Given the description of an element on the screen output the (x, y) to click on. 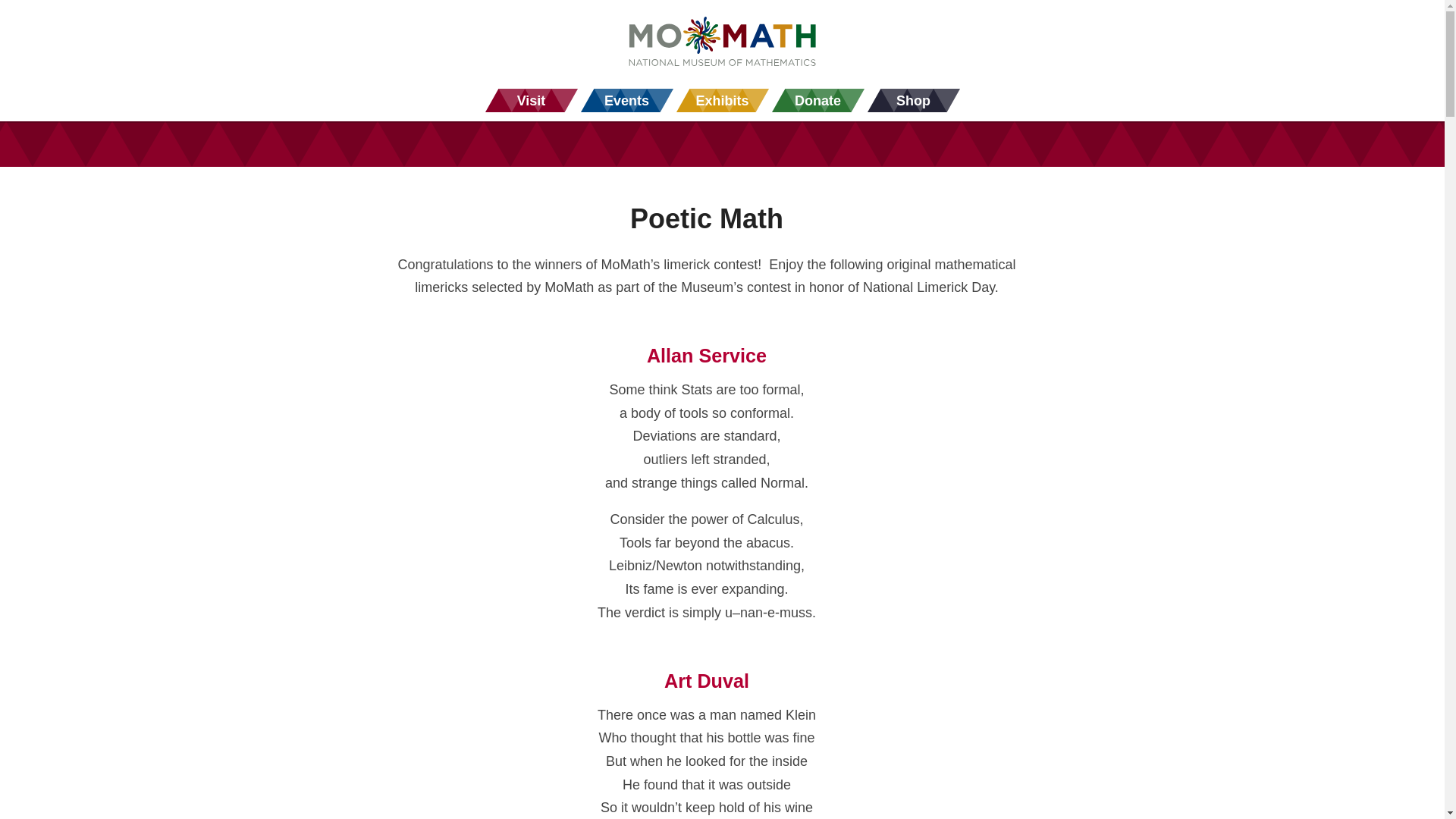
Visit (531, 100)
Events (626, 100)
Exhibits (722, 100)
MoMath (721, 43)
Shop (913, 100)
Donate (817, 100)
